Given the description of an element on the screen output the (x, y) to click on. 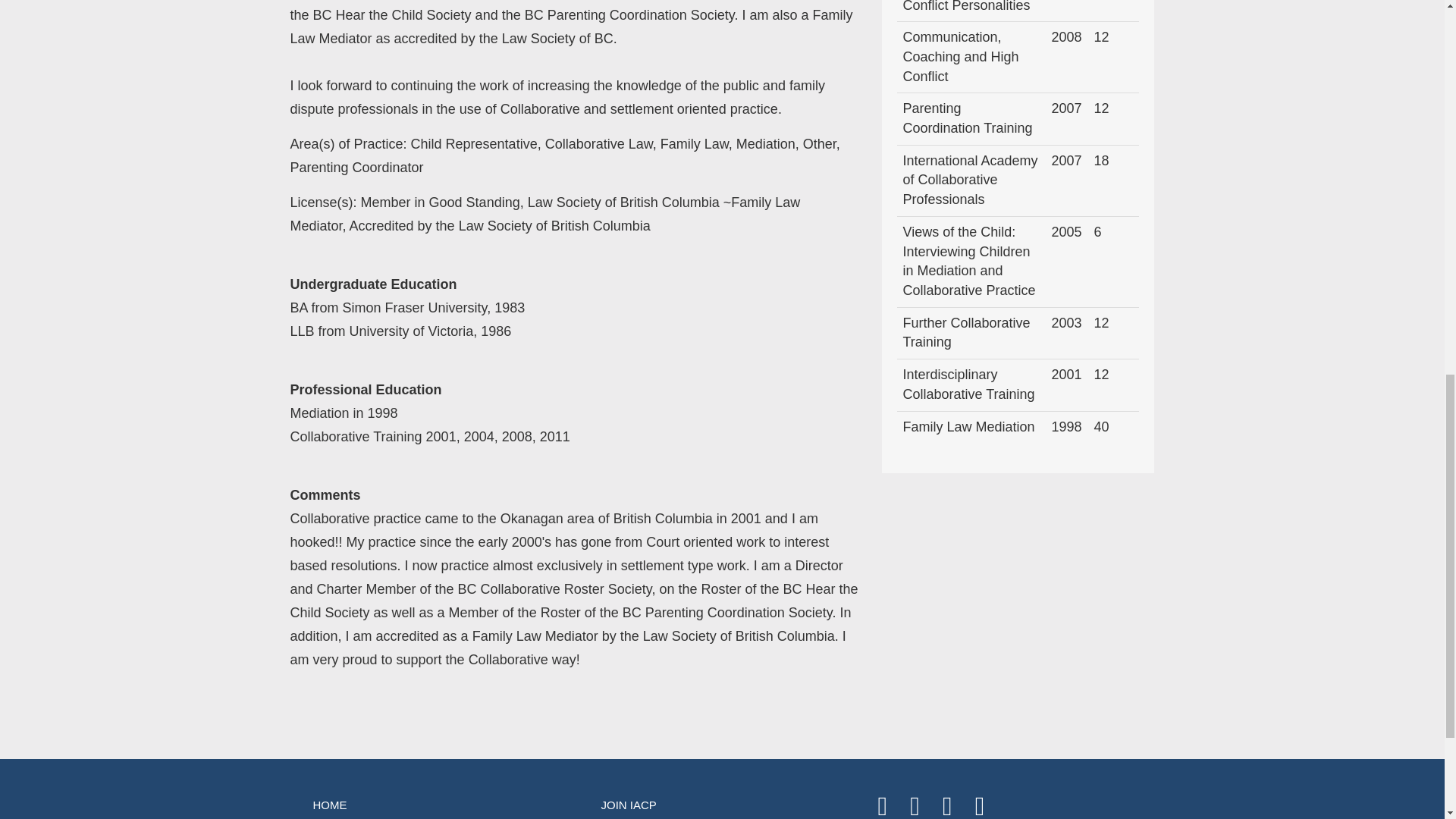
JOIN IACP (721, 802)
HOME (434, 802)
